Given the description of an element on the screen output the (x, y) to click on. 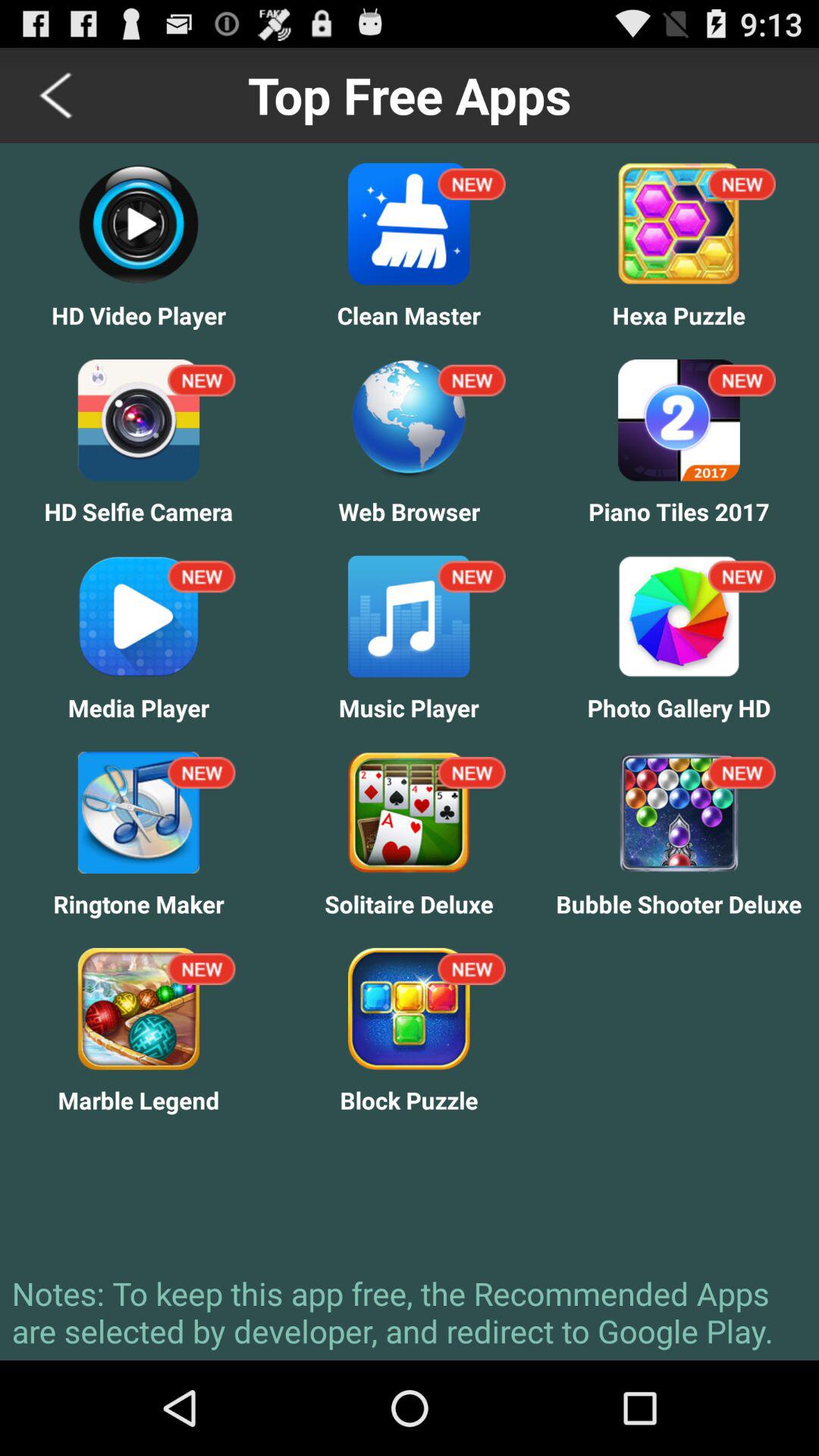
back to next screen option (57, 95)
